Given the description of an element on the screen output the (x, y) to click on. 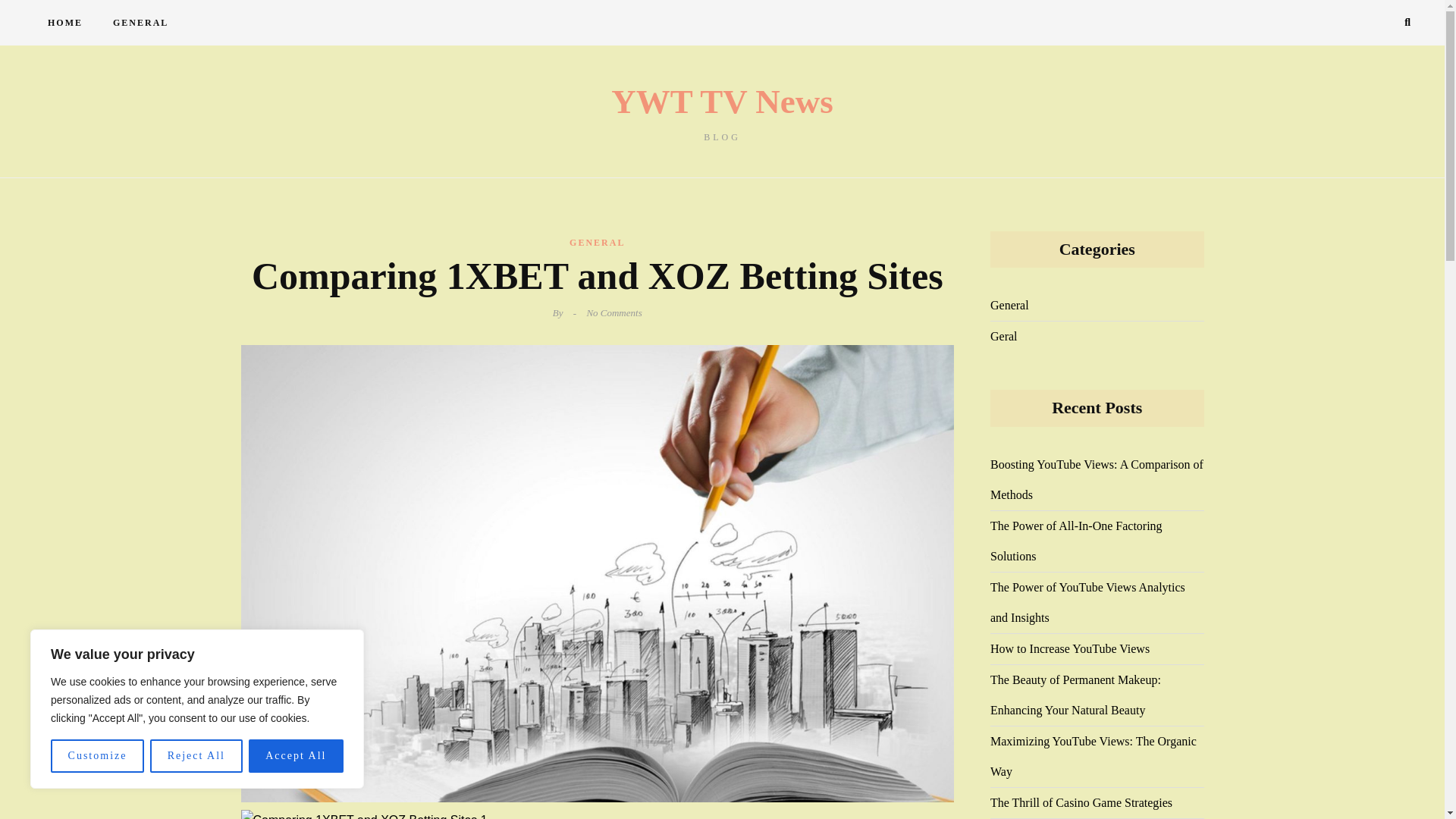
HOME (64, 22)
Reject All (196, 756)
GENERAL (140, 22)
GENERAL (596, 241)
Accept All (295, 756)
Customize (97, 756)
